Given the description of an element on the screen output the (x, y) to click on. 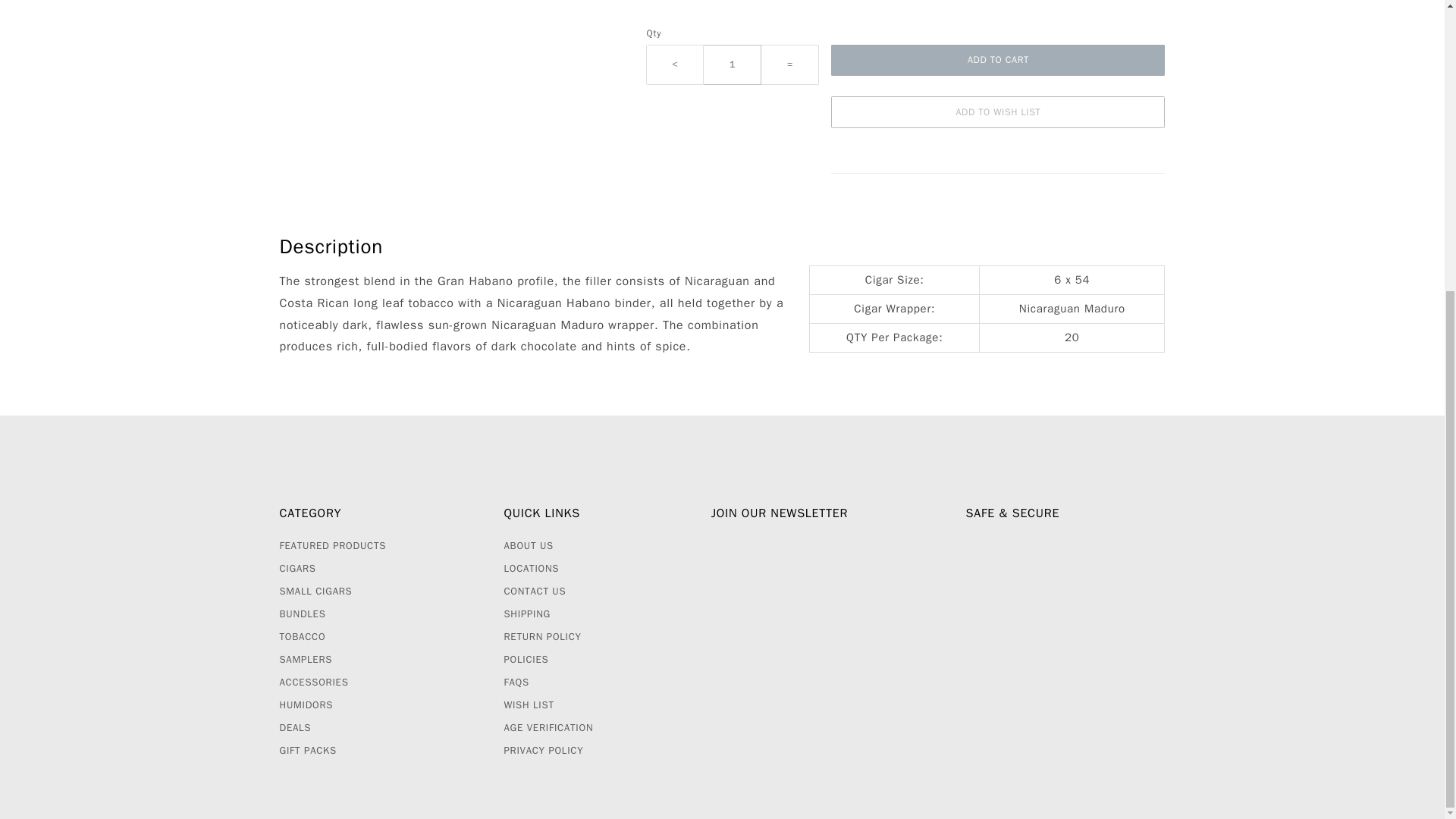
Add to Wish List (997, 111)
1 (732, 65)
Add To Cart (997, 60)
Add To Cart (997, 60)
